Given the description of an element on the screen output the (x, y) to click on. 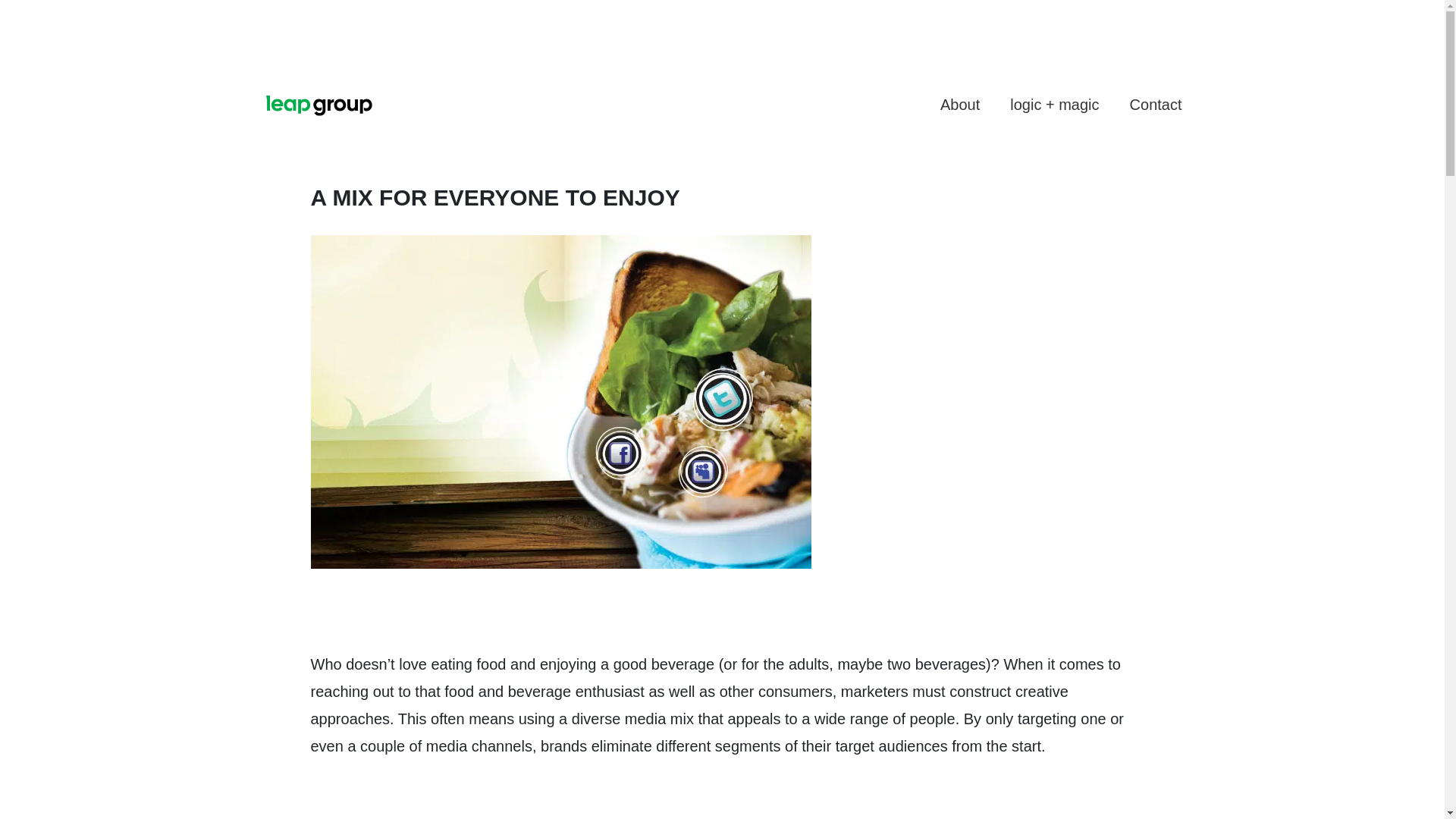
Contact (1155, 104)
About (959, 104)
